Given the description of an element on the screen output the (x, y) to click on. 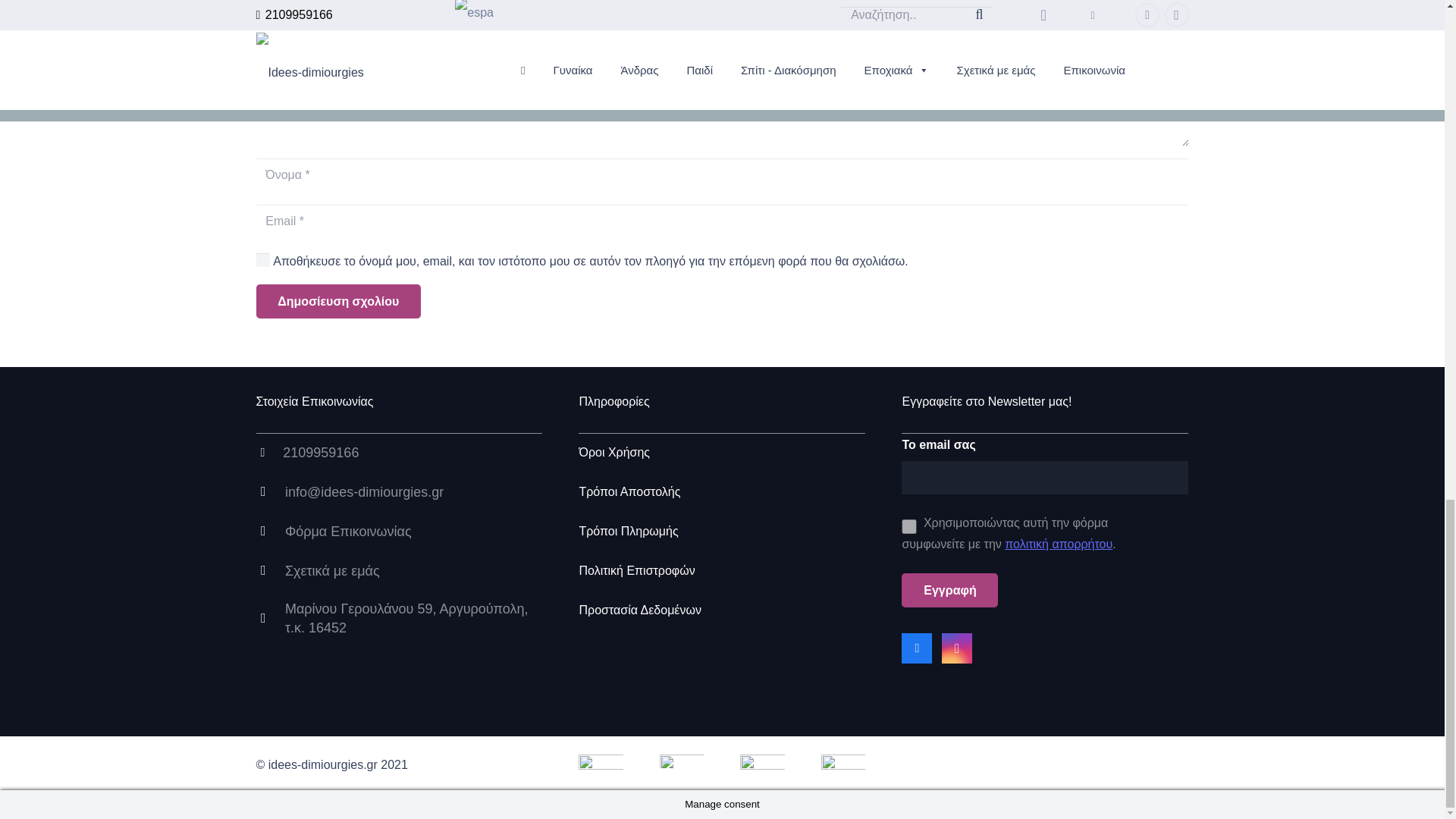
Facebook (916, 648)
1 (908, 526)
Instagram (957, 648)
1 (261, 259)
